Given the description of an element on the screen output the (x, y) to click on. 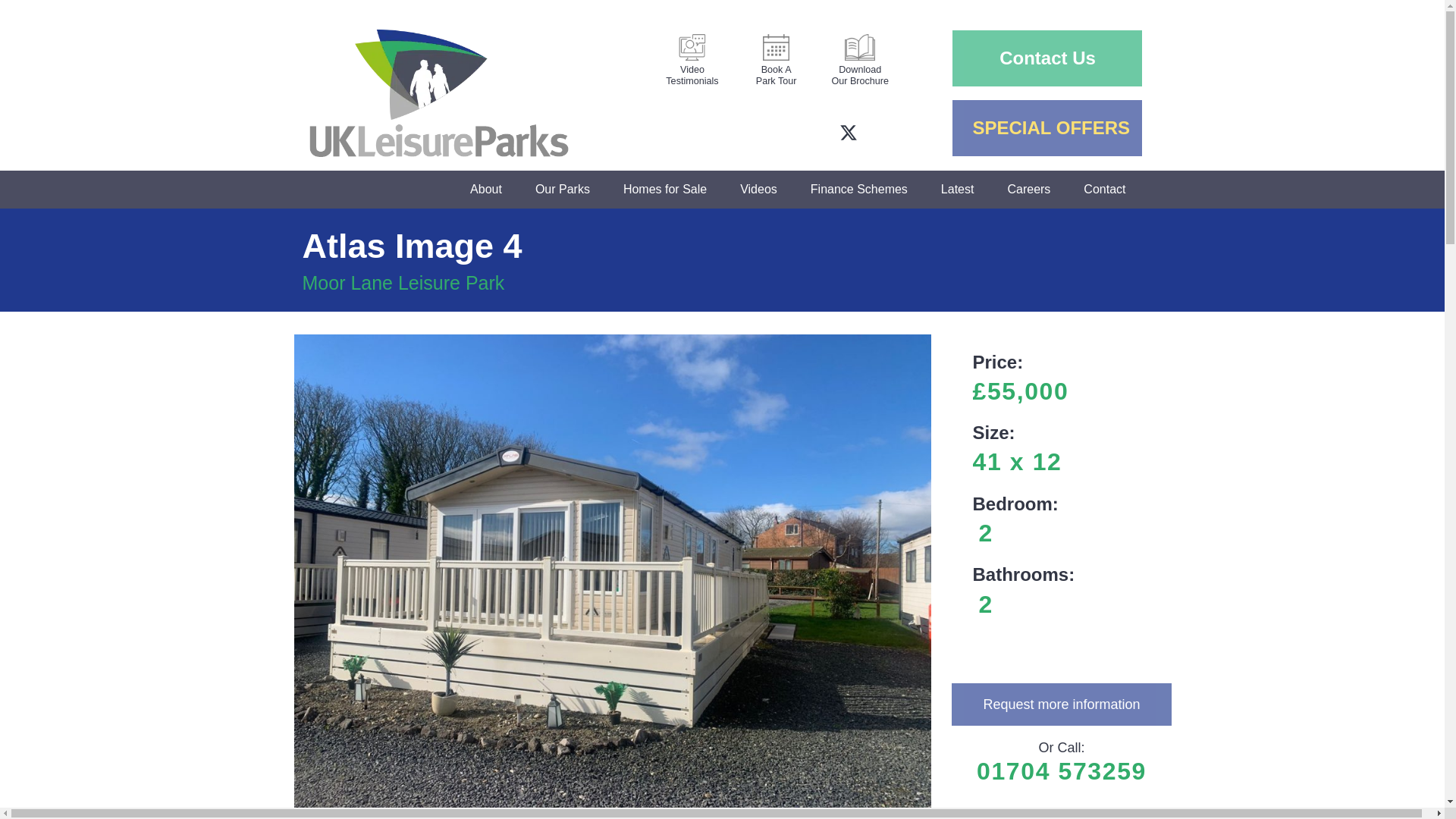
Contact Us (692, 58)
Homes for Sale (1046, 61)
Contact Us (665, 189)
SPECIAL OFFERS (1046, 58)
About (1046, 127)
SPECIAL OFFERS (485, 189)
Our Parks (860, 58)
